Given the description of an element on the screen output the (x, y) to click on. 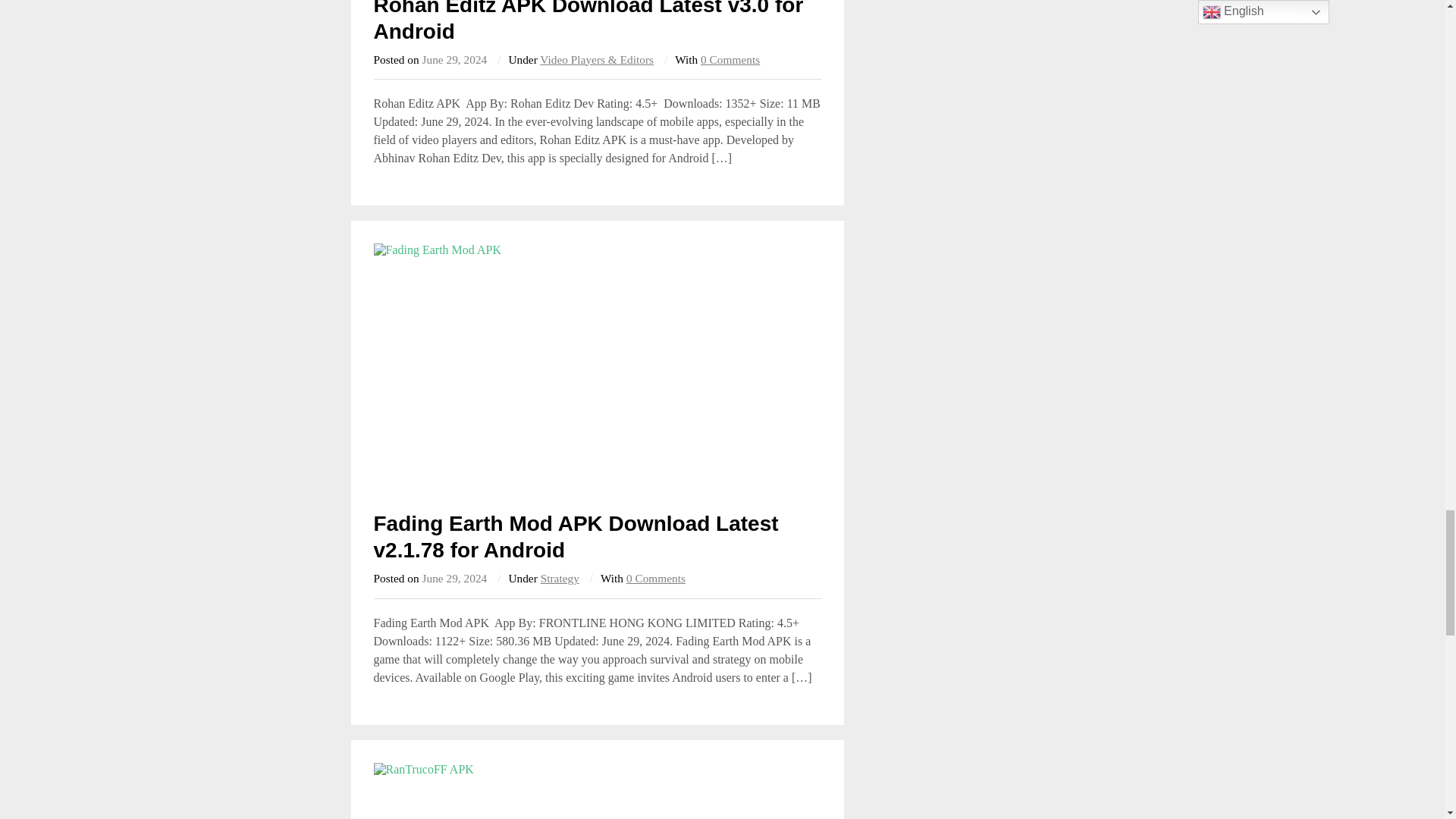
0 Comments (730, 59)
Rohan Editz APK Download Latest v3.0 for Android (587, 21)
Strategy (559, 577)
Fading Earth Mod APK Download Latest v2.1.78 for Android (574, 536)
0 Comments (655, 577)
